Given the description of an element on the screen output the (x, y) to click on. 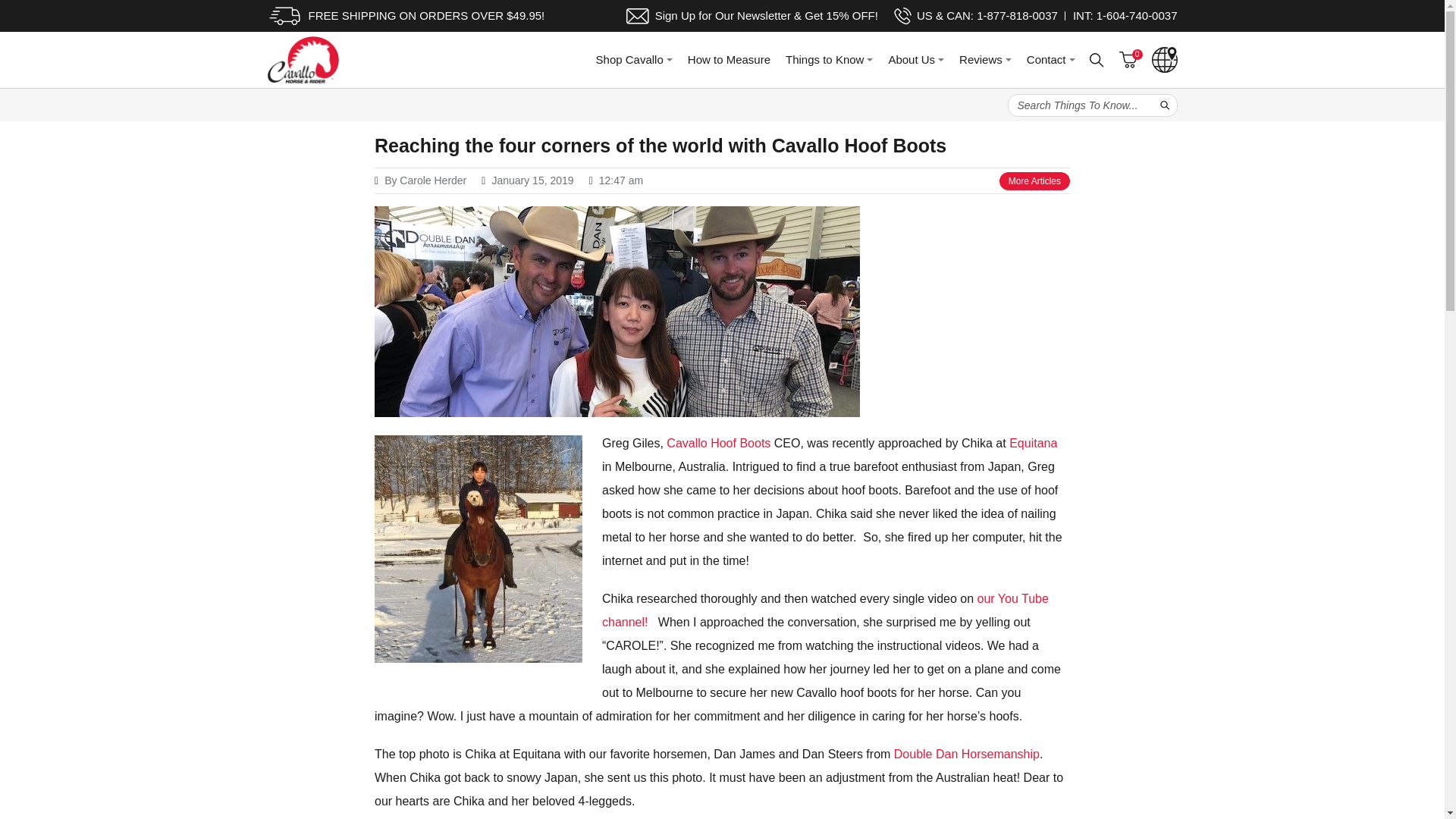
How to Measure (728, 59)
INT: 1-604-740-0037 (1125, 15)
Shop Cavallo (633, 59)
